Given the description of an element on the screen output the (x, y) to click on. 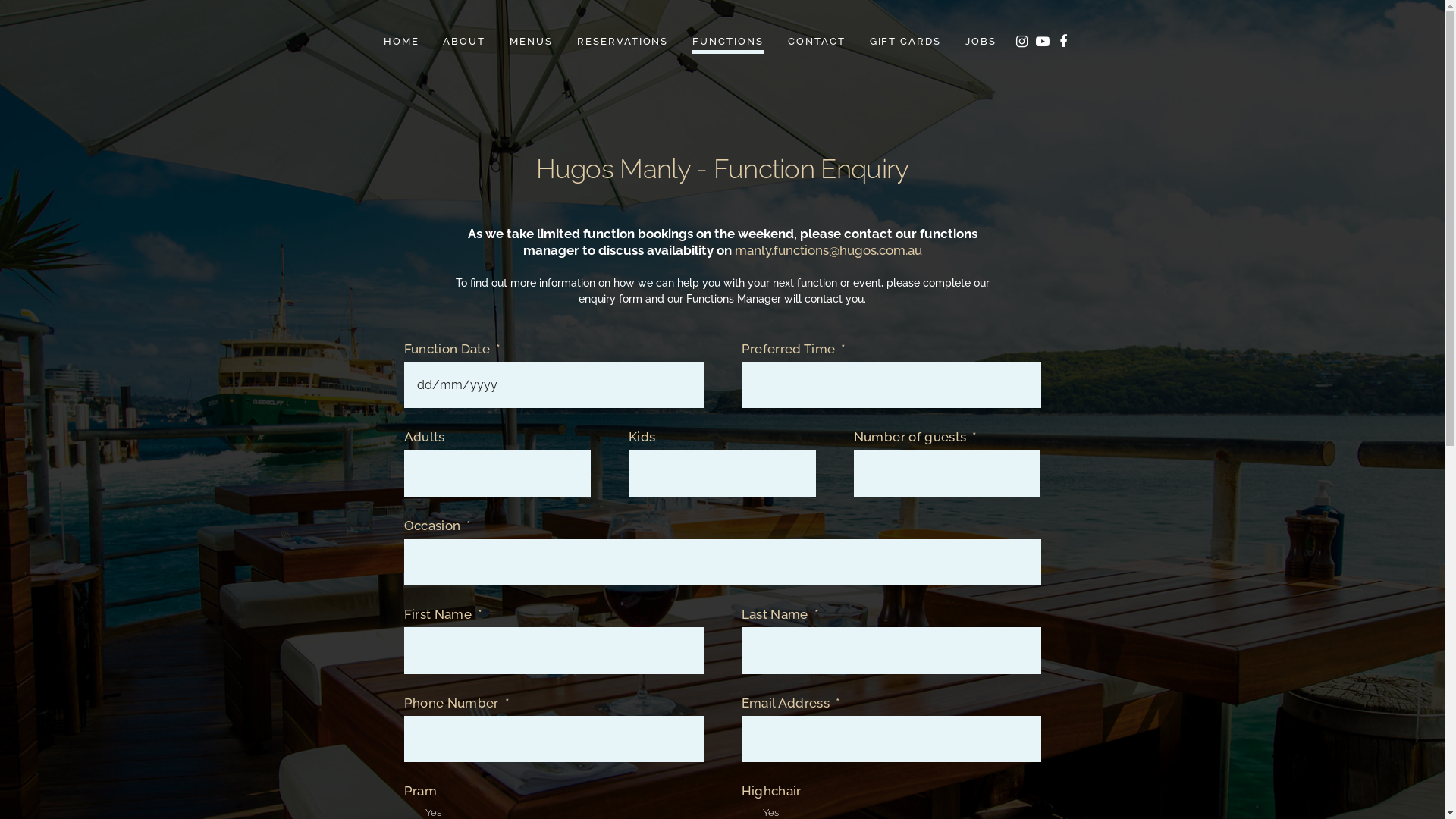
CONTACT Element type: text (816, 41)
FUNCTIONS Element type: text (727, 41)
JOBS Element type: text (980, 41)
manly.functions@hugos.com.au Element type: text (827, 249)
HOME Element type: text (401, 41)
RESERVATIONS Element type: text (622, 41)
GIFT CARDS Element type: text (905, 41)
MENUS Element type: text (530, 41)
ABOUT Element type: text (463, 41)
